Given the description of an element on the screen output the (x, y) to click on. 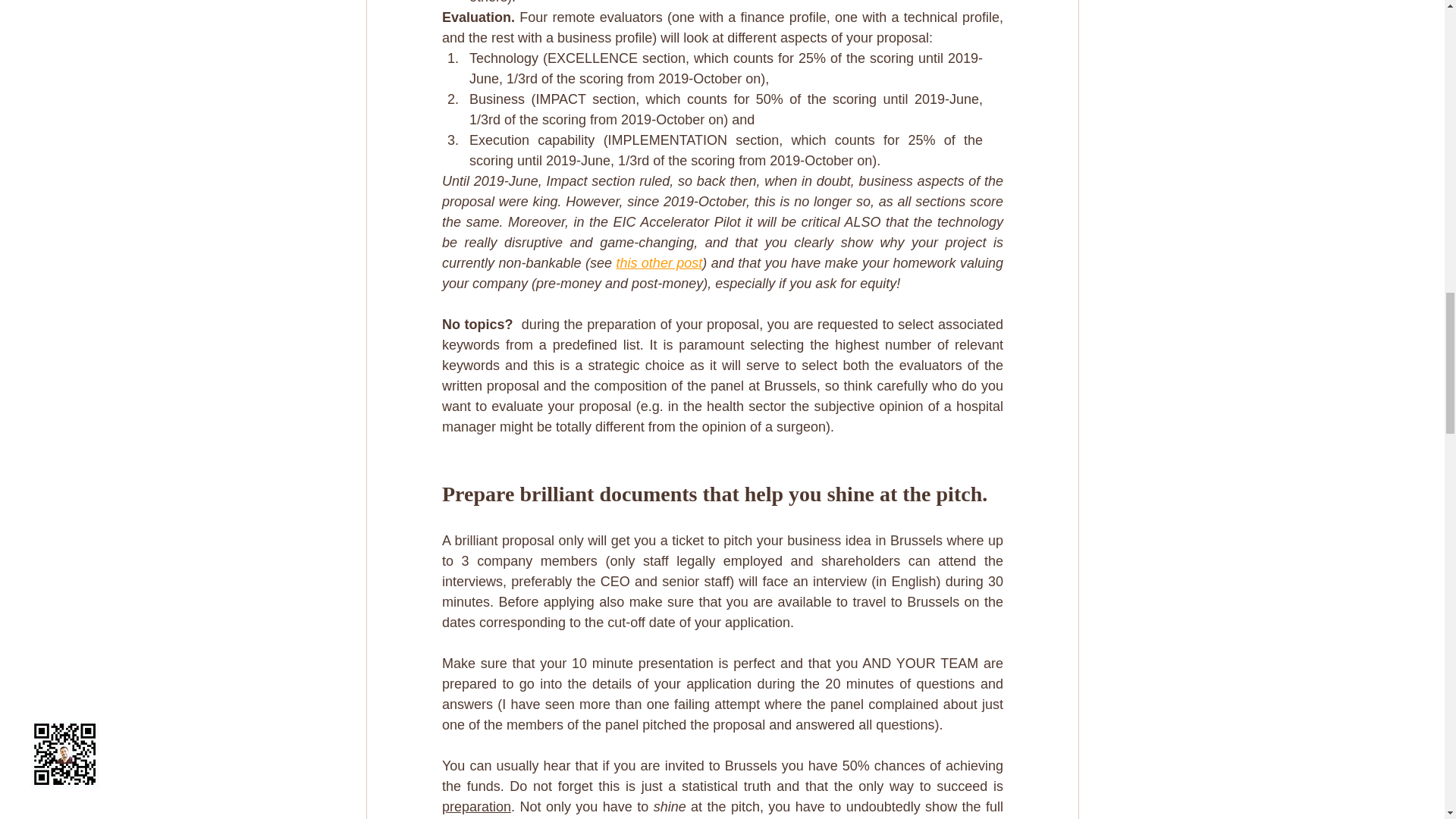
this other post (658, 263)
